Given the description of an element on the screen output the (x, y) to click on. 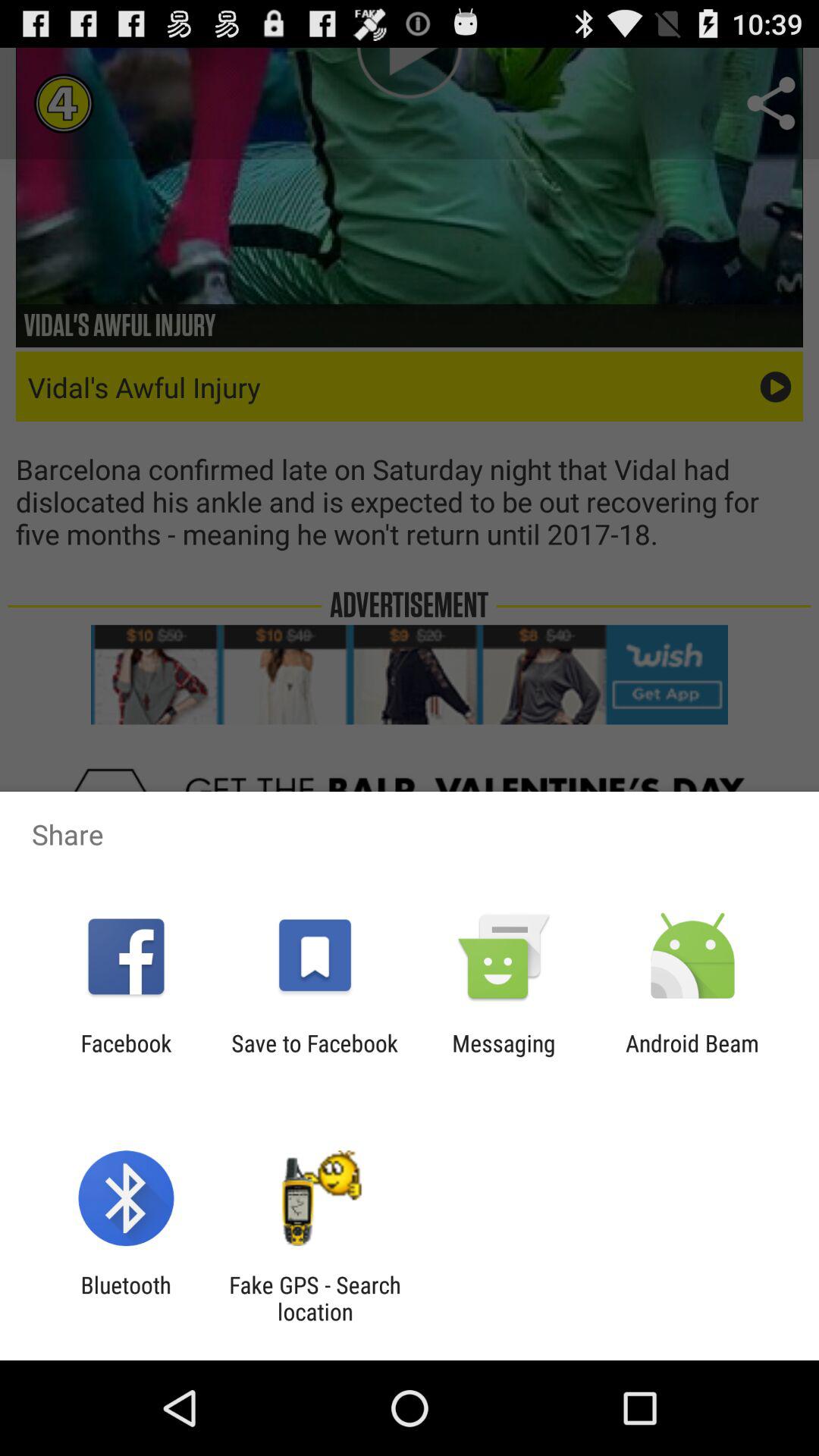
choose item next to save to facebook icon (503, 1056)
